Given the description of an element on the screen output the (x, y) to click on. 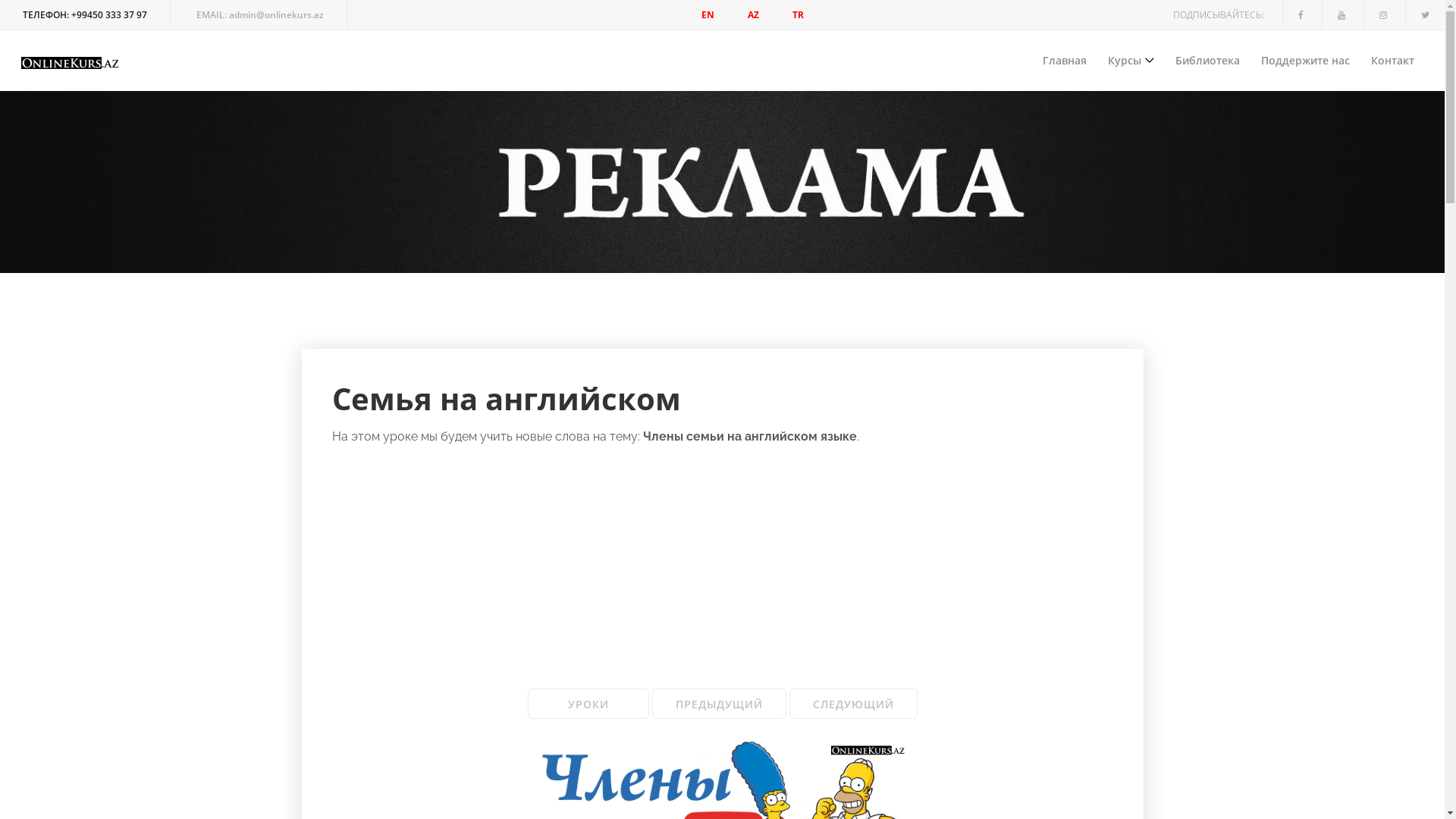
TR Element type: text (798, 15)
AZ Element type: text (753, 15)
EMAIL: admin@onlinekurs.az Element type: text (260, 15)
Advertisement Element type: hover (722, 536)
EN Element type: text (707, 15)
Online course Element type: hover (70, 62)
